Given the description of an element on the screen output the (x, y) to click on. 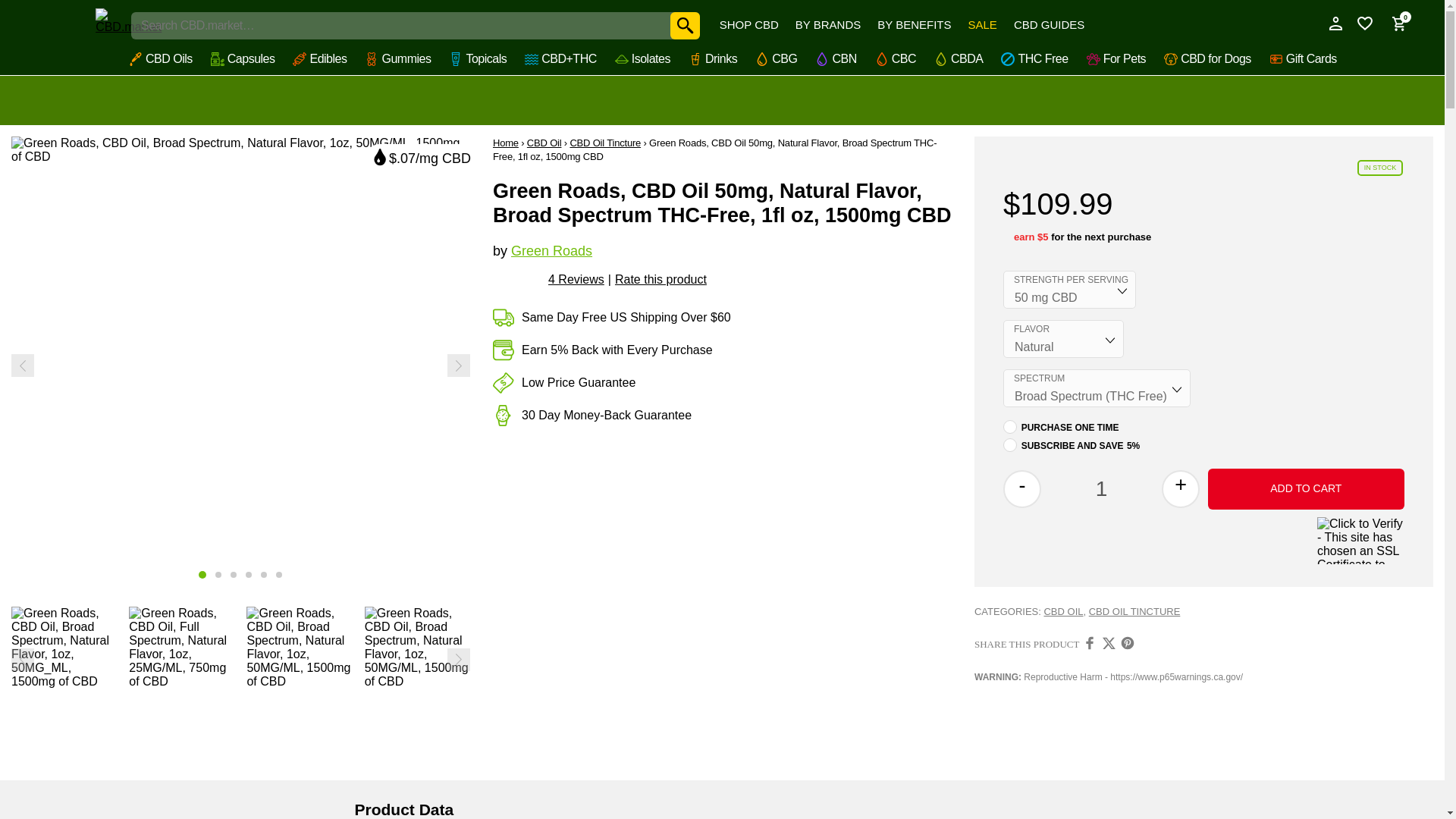
yes (1009, 445)
no (1009, 427)
Search for: (415, 25)
1 (1101, 489)
